Given the description of an element on the screen output the (x, y) to click on. 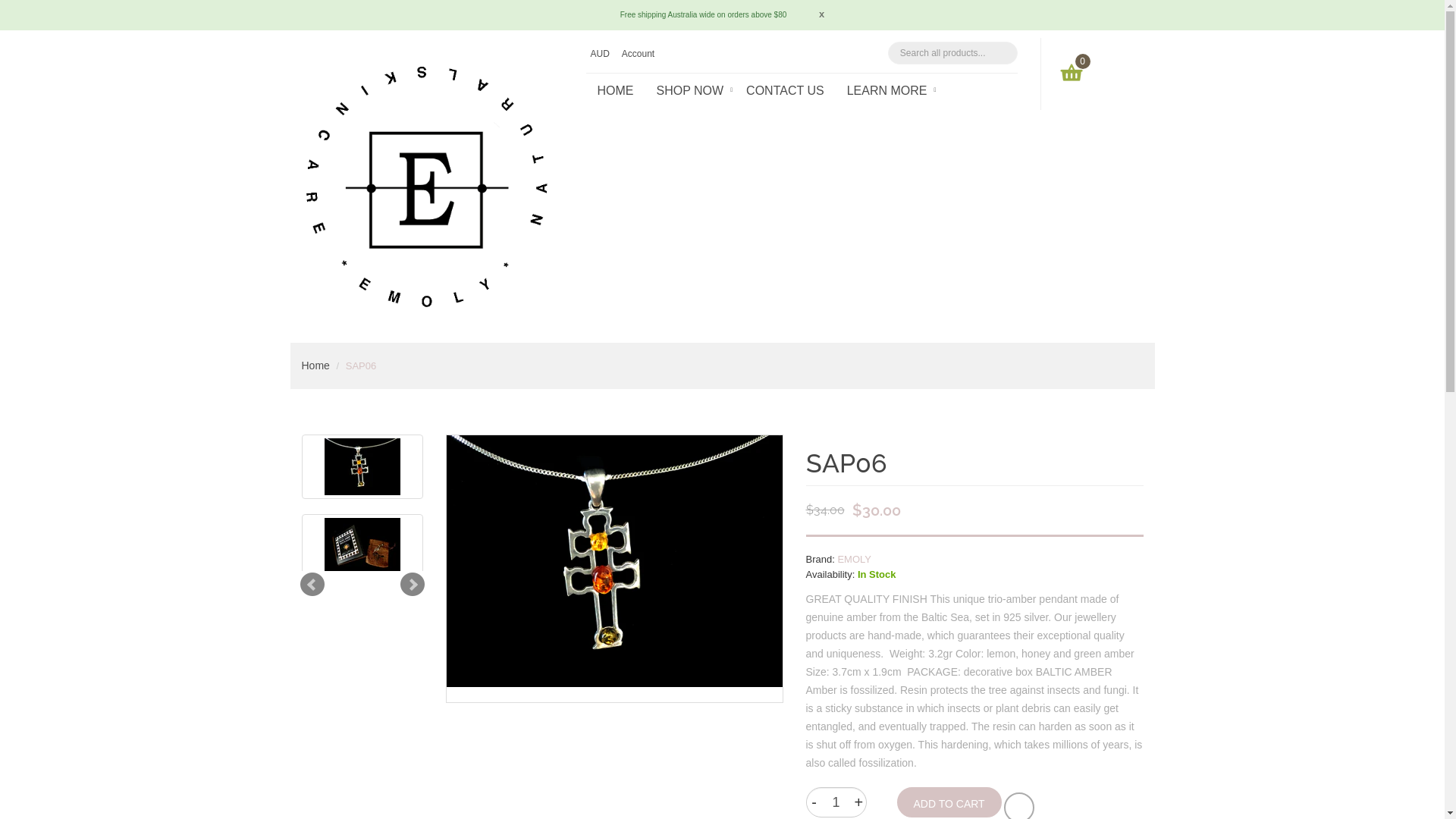
SAP06 Element type: hover (613, 561)
Next Element type: text (412, 584)
SAP06 Element type: hover (362, 546)
SAP06 Element type: hover (362, 466)
CONTACT US Element type: text (784, 90)
HOME Element type: text (614, 90)
ADD TO CART Element type: text (948, 802)
LEARN MORE Element type: text (886, 90)
x Element type: text (806, 13)
EMOLY Element type: text (854, 558)
AUD Element type: text (601, 54)
0 Element type: text (1070, 72)
Prev Element type: text (312, 584)
Home Element type: text (315, 365)
SHOP NOW Element type: text (689, 90)
Account Element type: text (639, 54)
